Given the description of an element on the screen output the (x, y) to click on. 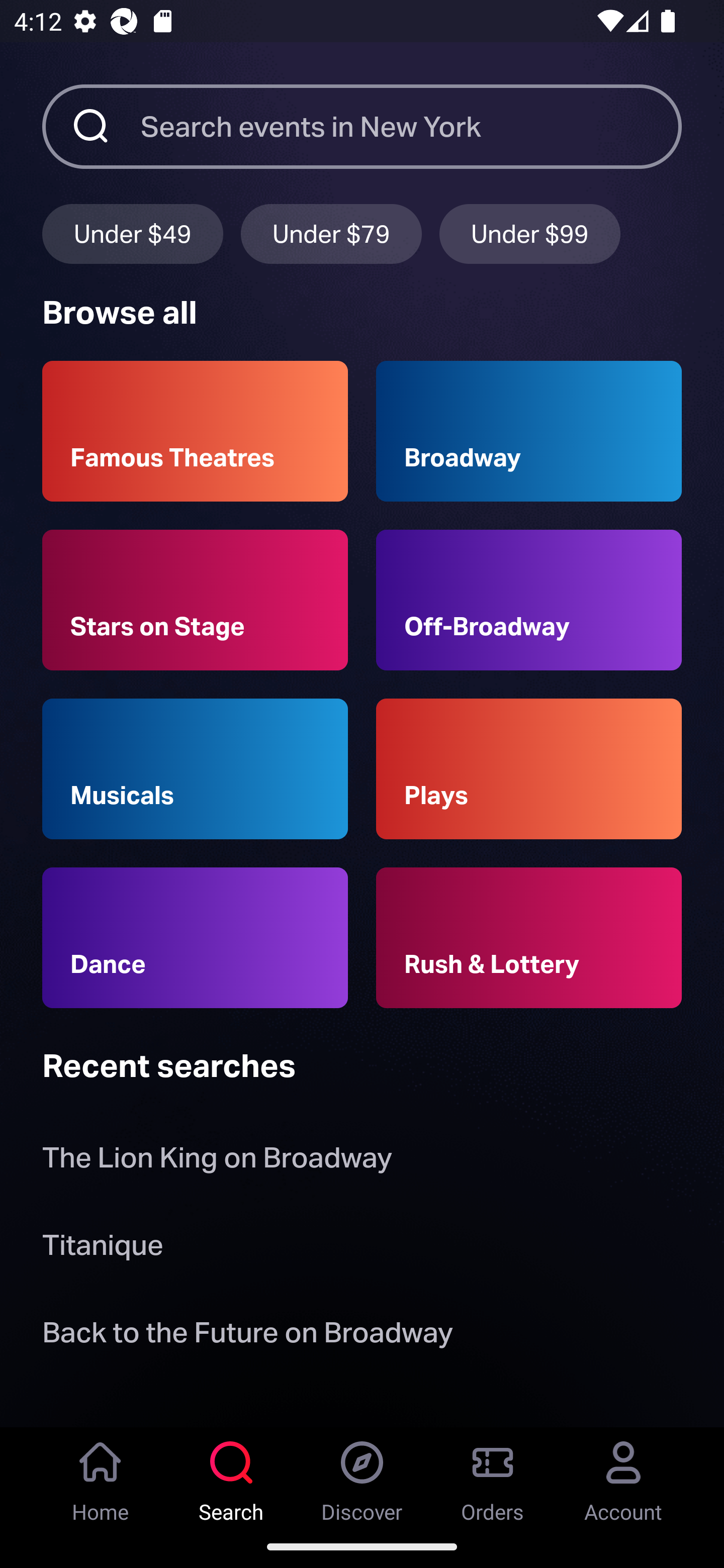
Search events in New York (411, 126)
Under $49 (131, 233)
Under $79 (331, 233)
Under $99 (529, 233)
Famous Theatres (194, 430)
Broadway (528, 430)
Stars on Stage (194, 600)
Off-Broadway (528, 600)
Musicals (194, 768)
Plays (528, 768)
Dance (194, 937)
Rush & Lottery (528, 937)
The Lion King on Broadway (216, 1161)
Titanique (102, 1248)
Back to the Future on Broadway (247, 1335)
Home (100, 1475)
Discover (361, 1475)
Orders (492, 1475)
Account (623, 1475)
